Given the description of an element on the screen output the (x, y) to click on. 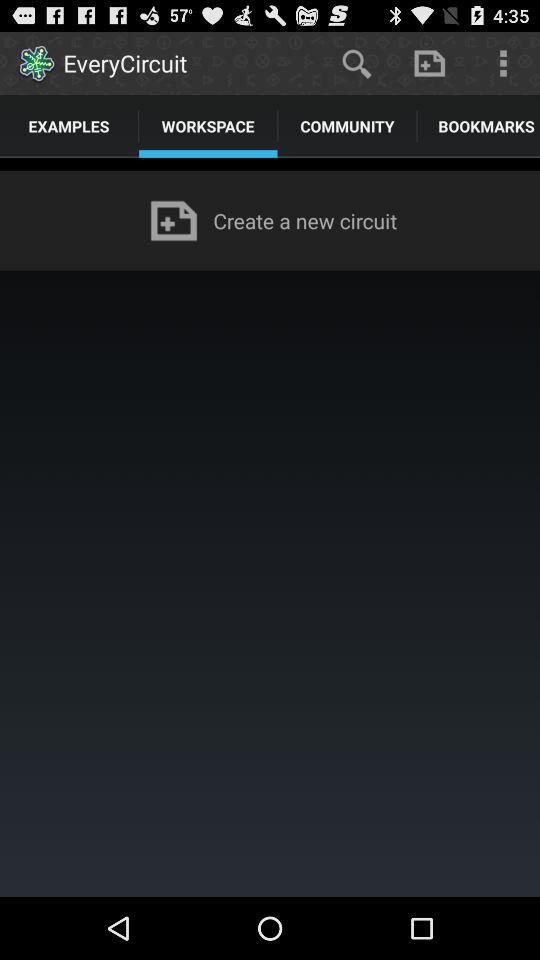
click the app next to the everycircuit app (356, 62)
